Given the description of an element on the screen output the (x, y) to click on. 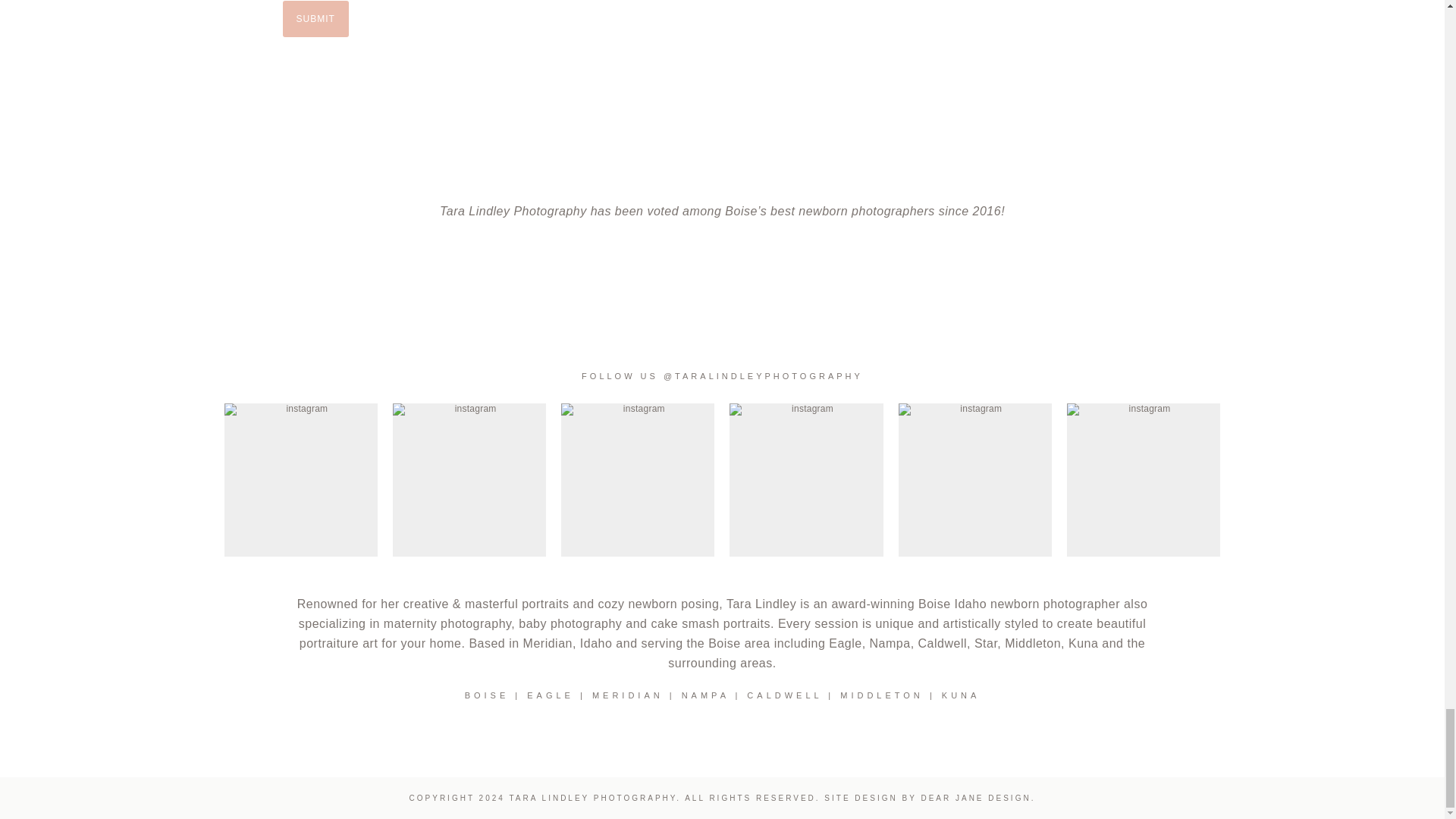
Submit (314, 18)
